Given the description of an element on the screen output the (x, y) to click on. 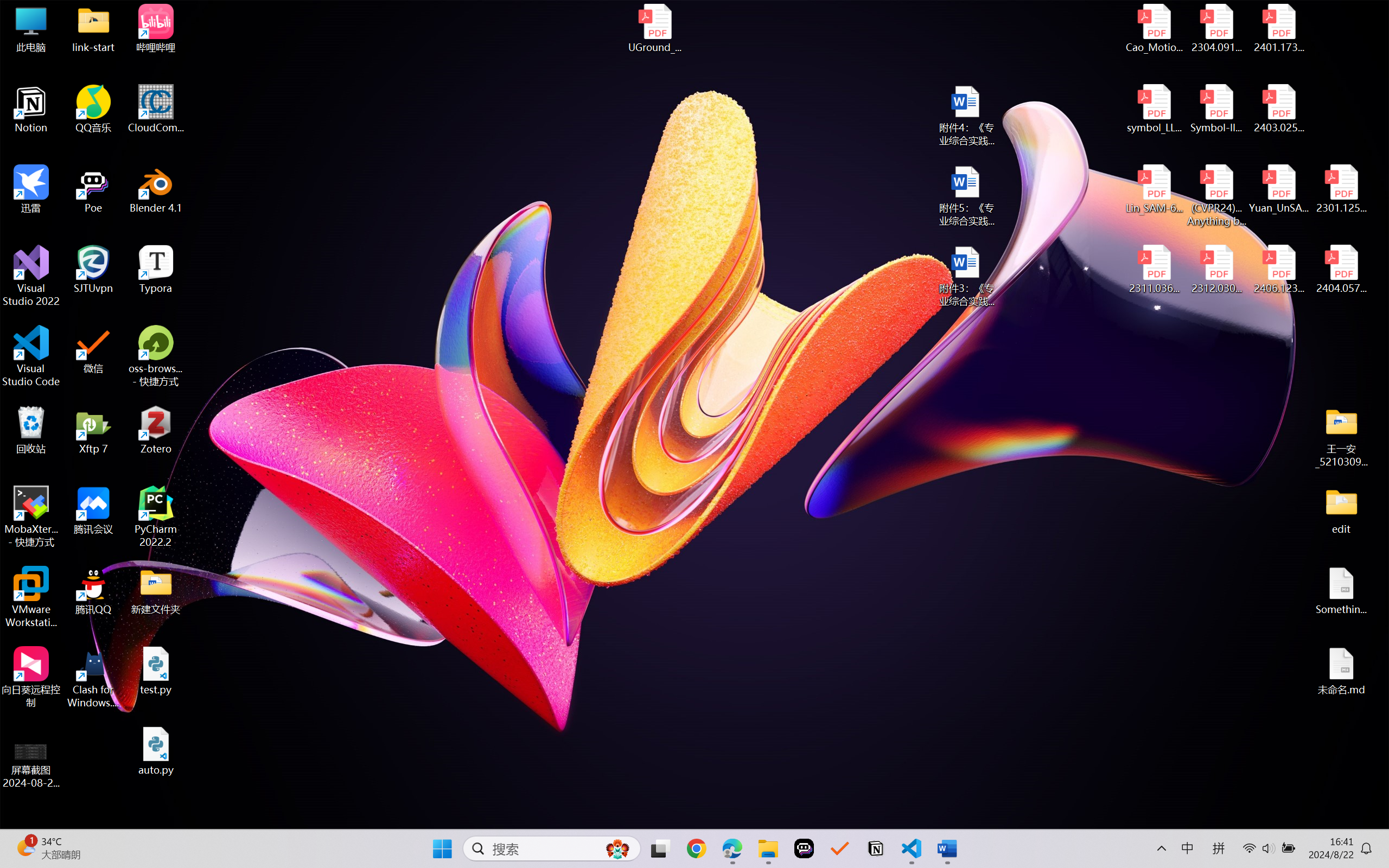
2312.03032v2.pdf (1216, 269)
symbol_LLM.pdf (1154, 109)
2404.05719v1.pdf (1340, 269)
SJTUvpn (93, 269)
(CVPR24)Matching Anything by Segmenting Anything.pdf (1216, 195)
auto.py (156, 751)
Xftp 7 (93, 430)
